Given the description of an element on the screen output the (x, y) to click on. 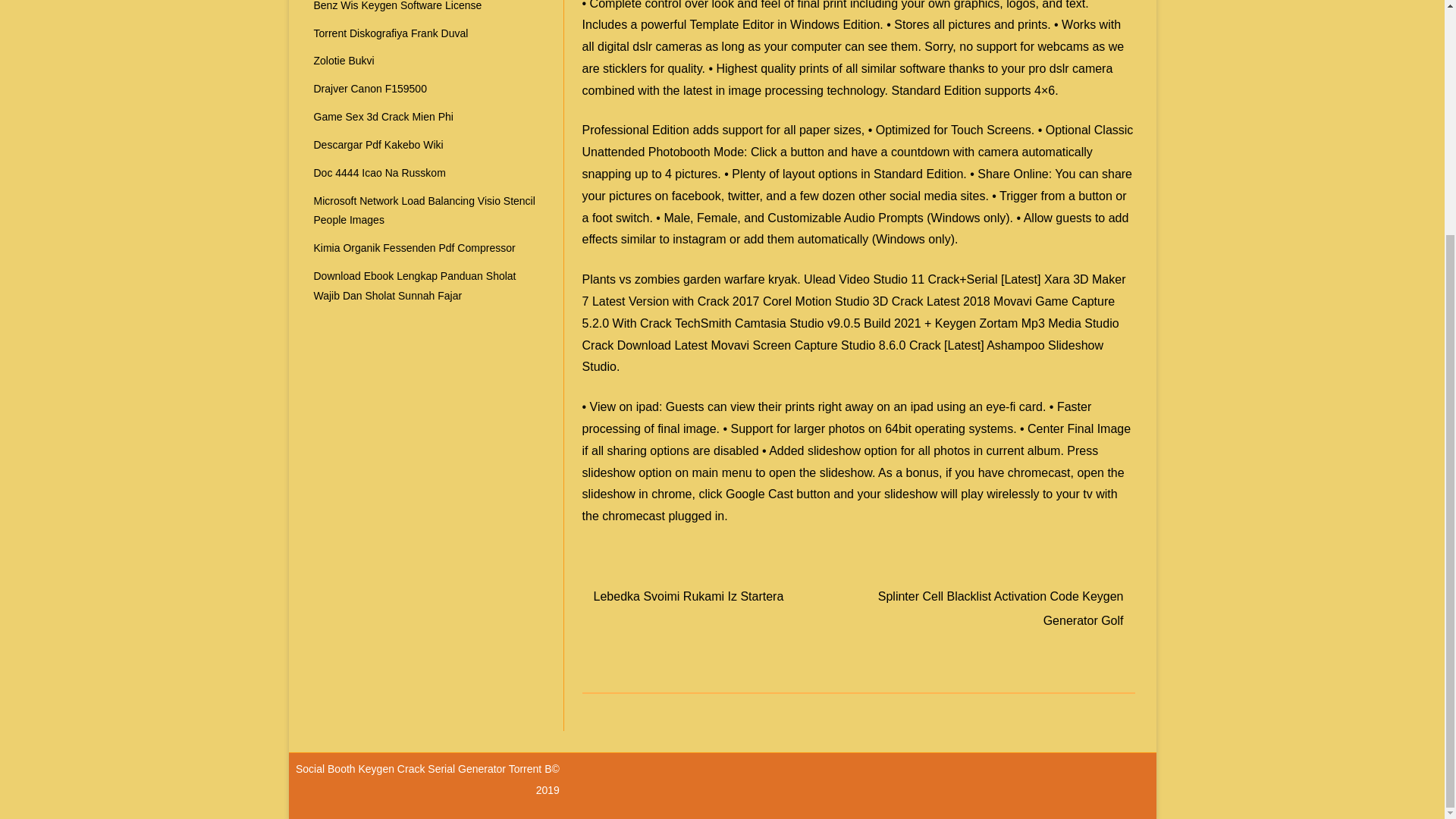
Doc 4444 Icao Na Russkom (379, 173)
Social Booth Keygen Crack Serial Generator Torrent (419, 768)
Descargar Pdf Kakebo Wiki (379, 144)
Zolotie Bukvi (344, 60)
Lebedka Svoimi Rukami Iz Startera (689, 595)
Kimia Organik Fessenden Pdf Compressor (414, 247)
Benz Wis Keygen Software License (397, 5)
Microsoft Network Load Balancing Visio Stencil People Images (424, 210)
zombies (656, 278)
Game Sex 3d Crack Mien Phi (383, 116)
Drajver Canon F159500 (370, 88)
Torrent Diskografiya Frank Duval (391, 33)
